Given the description of an element on the screen output the (x, y) to click on. 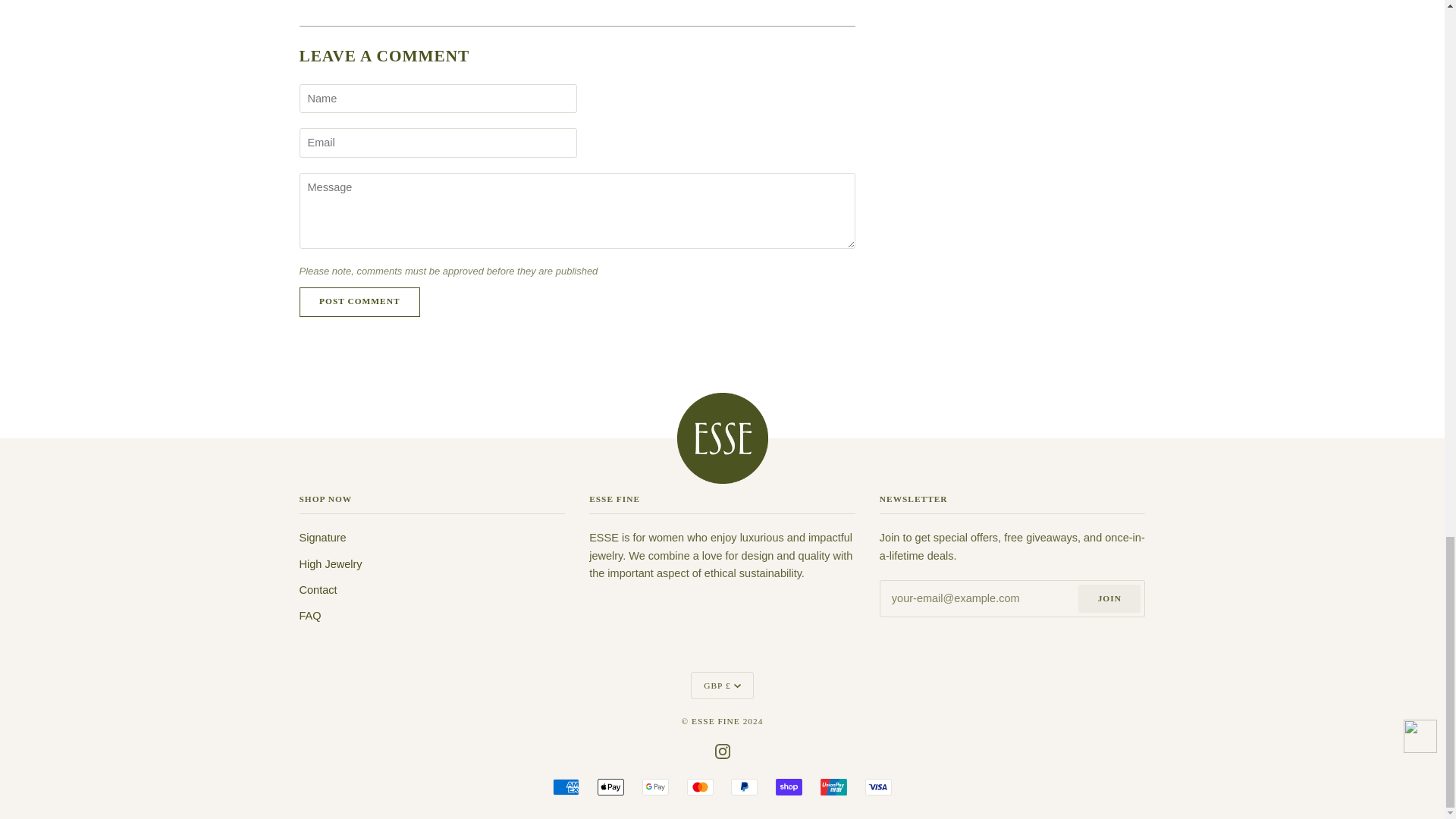
PAYPAL (743, 786)
GOOGLE PAY (655, 786)
MASTERCARD (700, 786)
Instagram (721, 750)
APPLE PAY (610, 786)
SHOP PAY (789, 786)
VISA (877, 786)
UNION PAY (834, 786)
AMERICAN EXPRESS (566, 786)
